Given the description of an element on the screen output the (x, y) to click on. 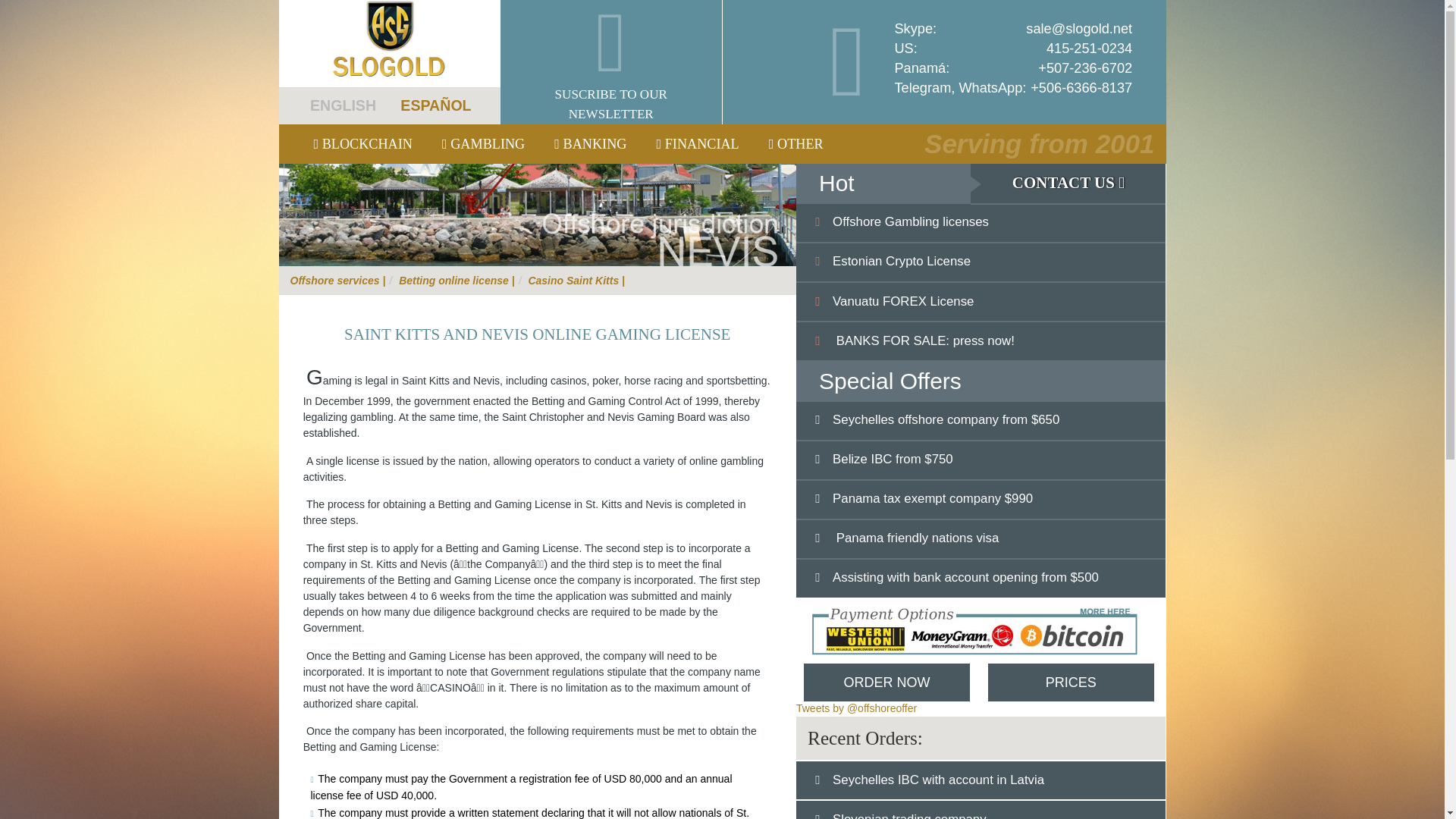
Estonian Crypto License (895, 260)
Slovenian trading company (902, 815)
FINANCIAL (698, 143)
GAMBLING (482, 143)
BANKING (590, 143)
PRICES (1070, 682)
BANKS FOR SALE: press now! (916, 340)
Panama friendly nations visa (908, 537)
Offshore Gambling licenses (903, 221)
SUSCRIBE TO OUR NEWSLETTER (611, 61)
BLOCKCHAIN (362, 143)
Vanuatu FOREX License (896, 301)
Seychelles IBC with account in Latvia (931, 780)
OTHER (795, 143)
ORDER NOW (886, 682)
